Given the description of an element on the screen output the (x, y) to click on. 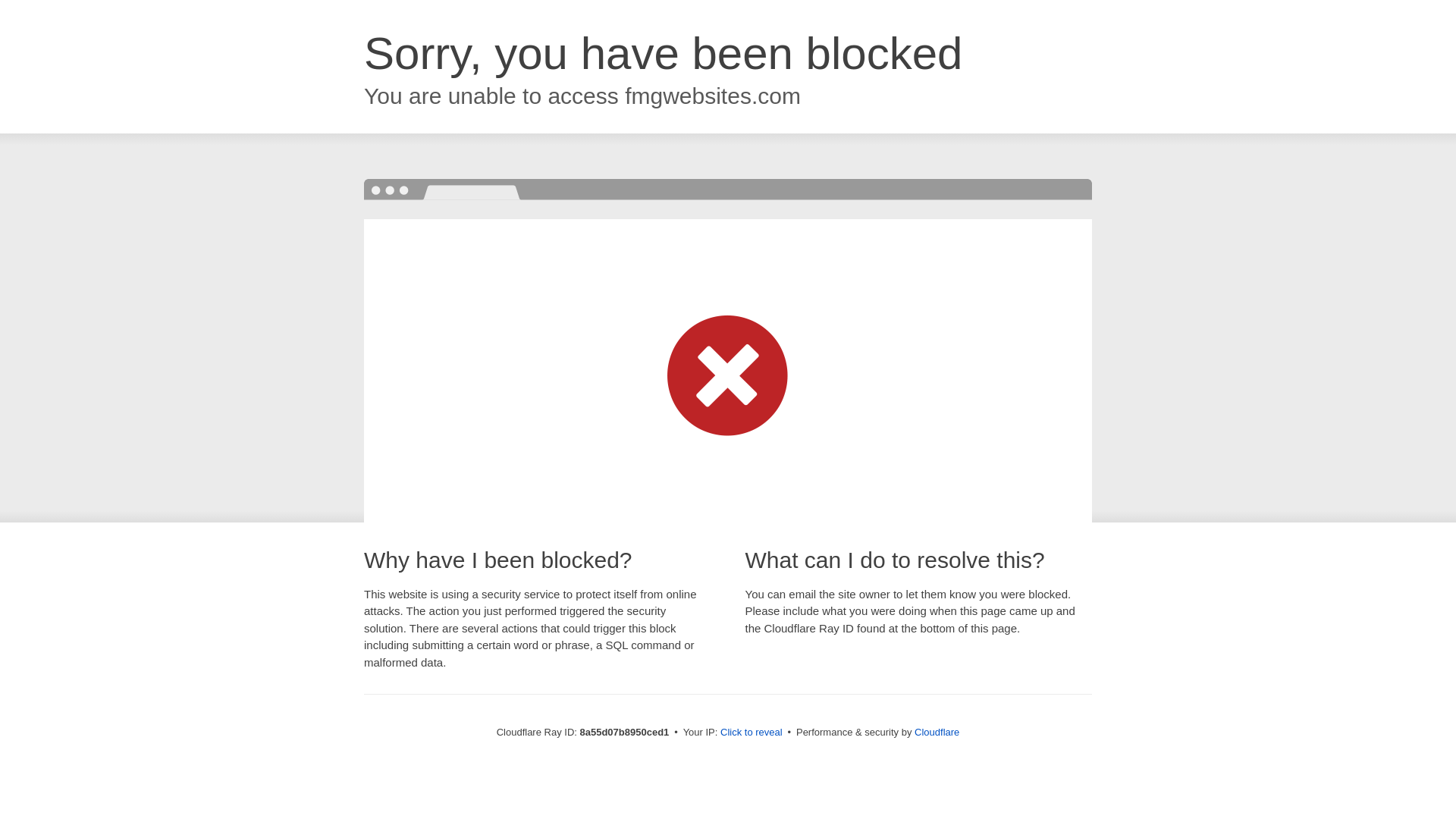
Cloudflare (936, 731)
Click to reveal (751, 732)
